Given the description of an element on the screen output the (x, y) to click on. 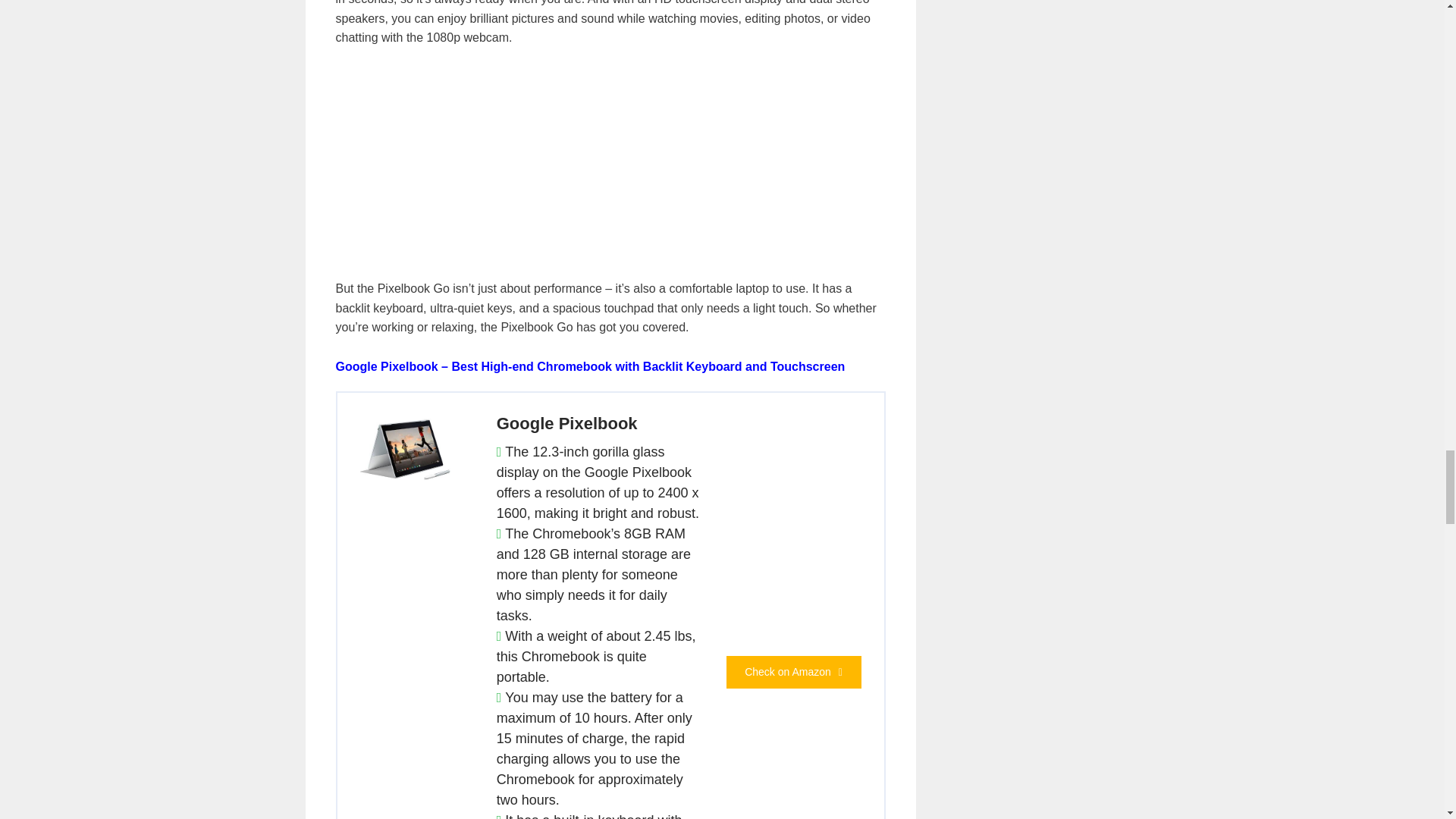
Check on Amazon (793, 672)
